Given the description of an element on the screen output the (x, y) to click on. 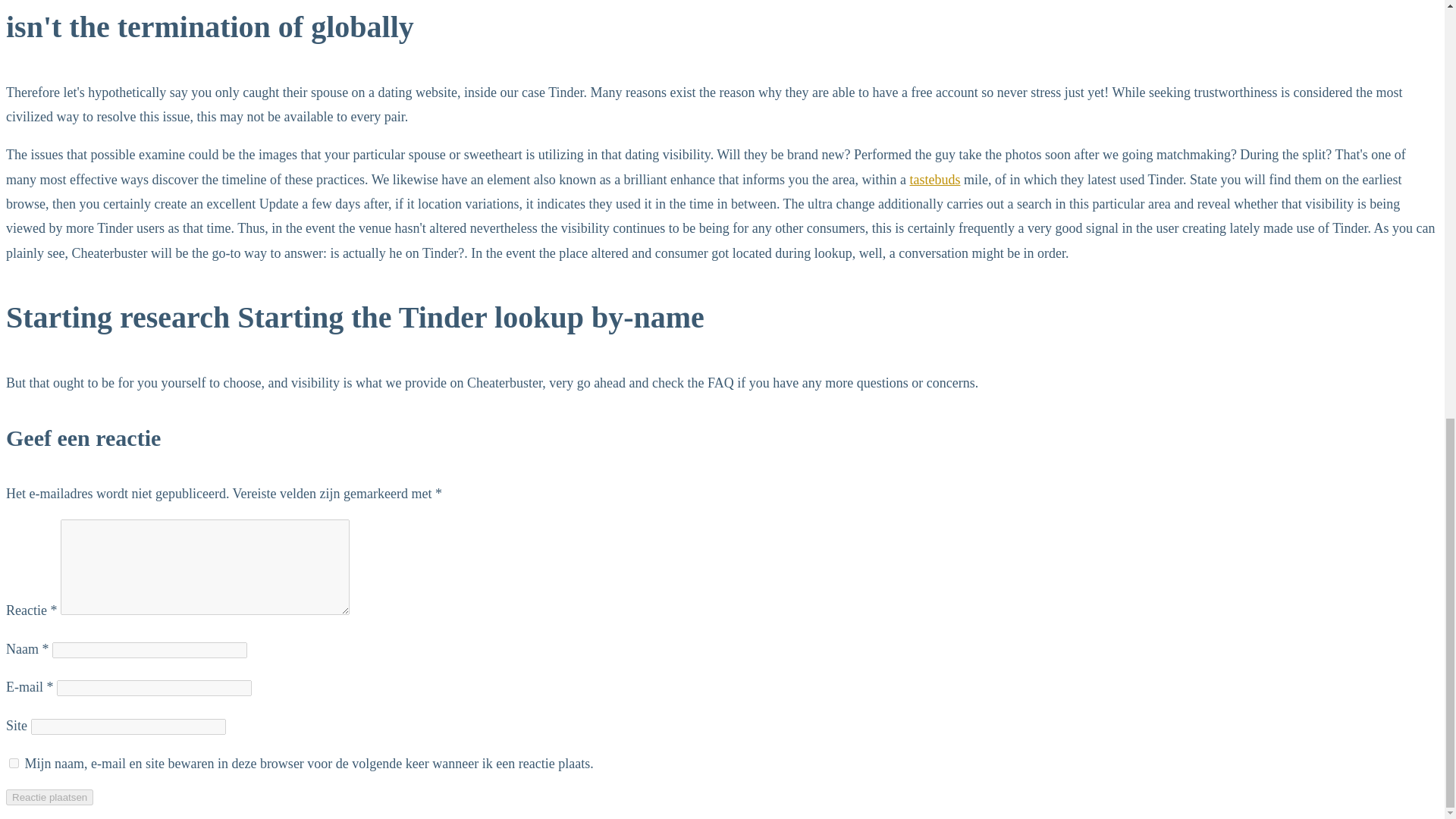
Reactie plaatsen (49, 797)
Reactie plaatsen (49, 797)
tastebuds (935, 179)
yes (13, 763)
